Given the description of an element on the screen output the (x, y) to click on. 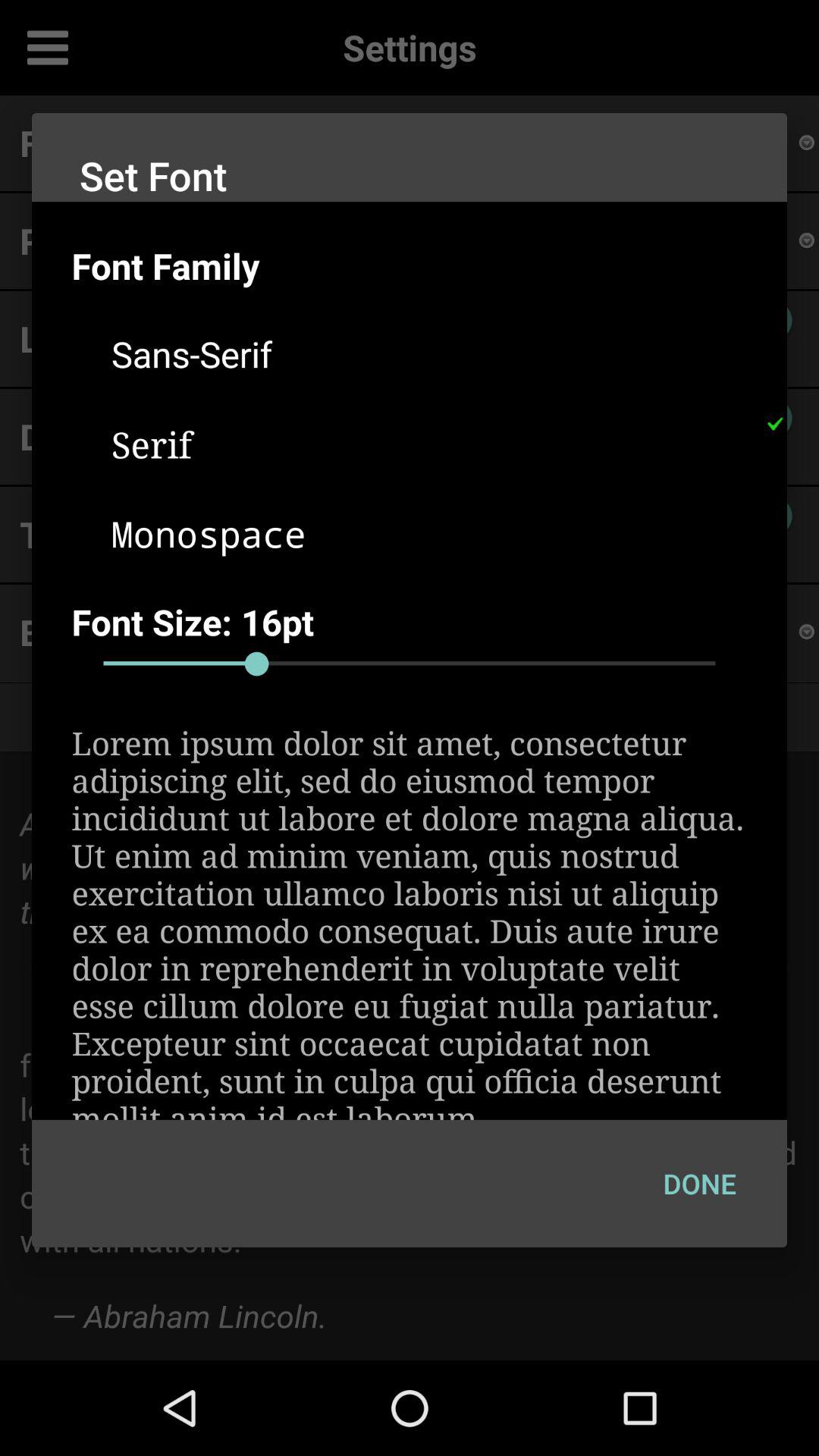
flip until the font family item (429, 265)
